Given the description of an element on the screen output the (x, y) to click on. 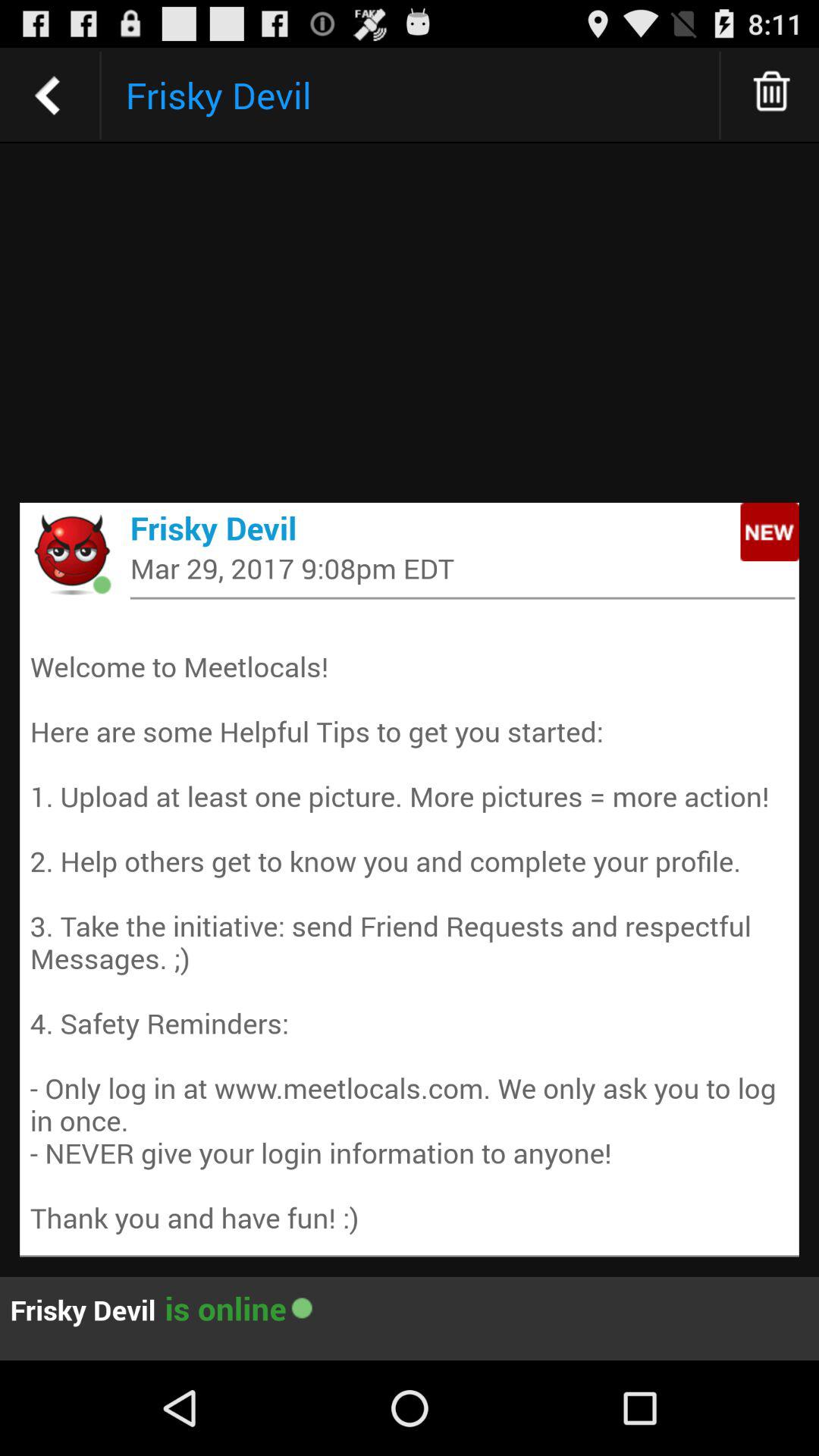
choose the icon above the welcome to meetlocals item (462, 598)
